Given the description of an element on the screen output the (x, y) to click on. 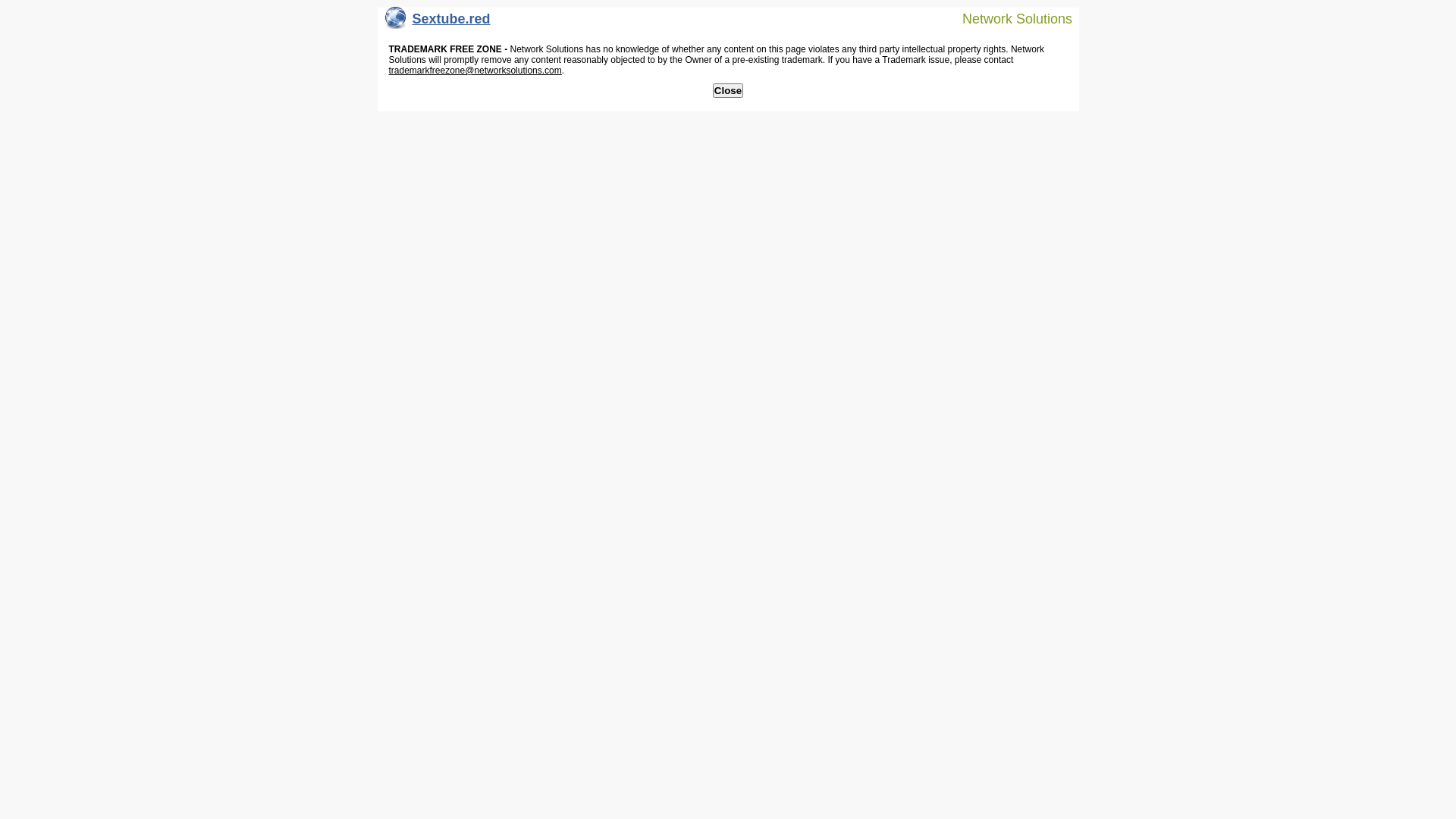
Close Element type: text (727, 90)
trademarkfreezone@networksolutions.com Element type: text (474, 70)
Sextube.red Element type: text (437, 21)
Network Solutions Element type: text (1007, 17)
